Given the description of an element on the screen output the (x, y) to click on. 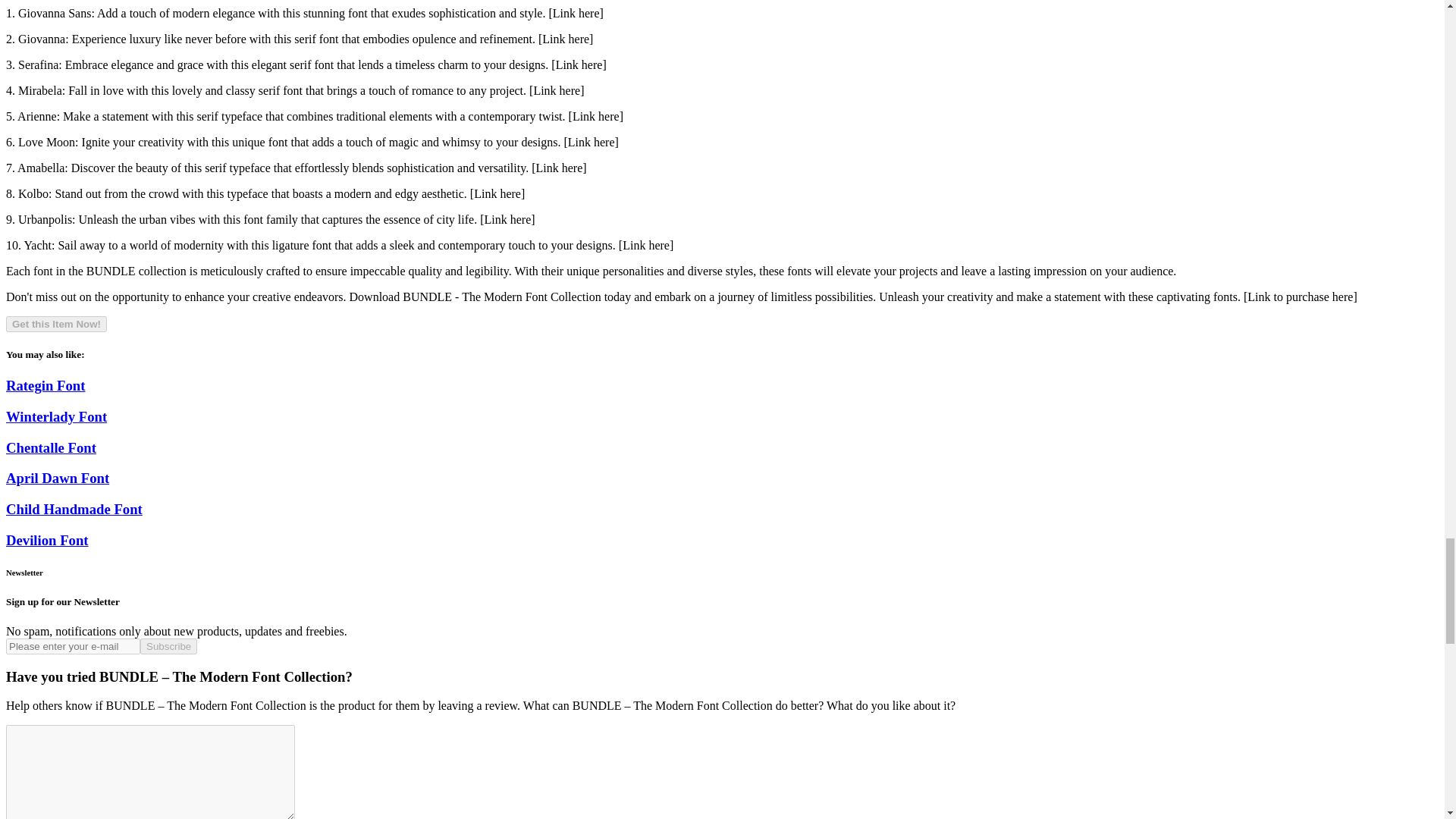
Get this Item Now! (55, 323)
Get this Item Now! (55, 324)
Rategin Font (44, 385)
